Given the description of an element on the screen output the (x, y) to click on. 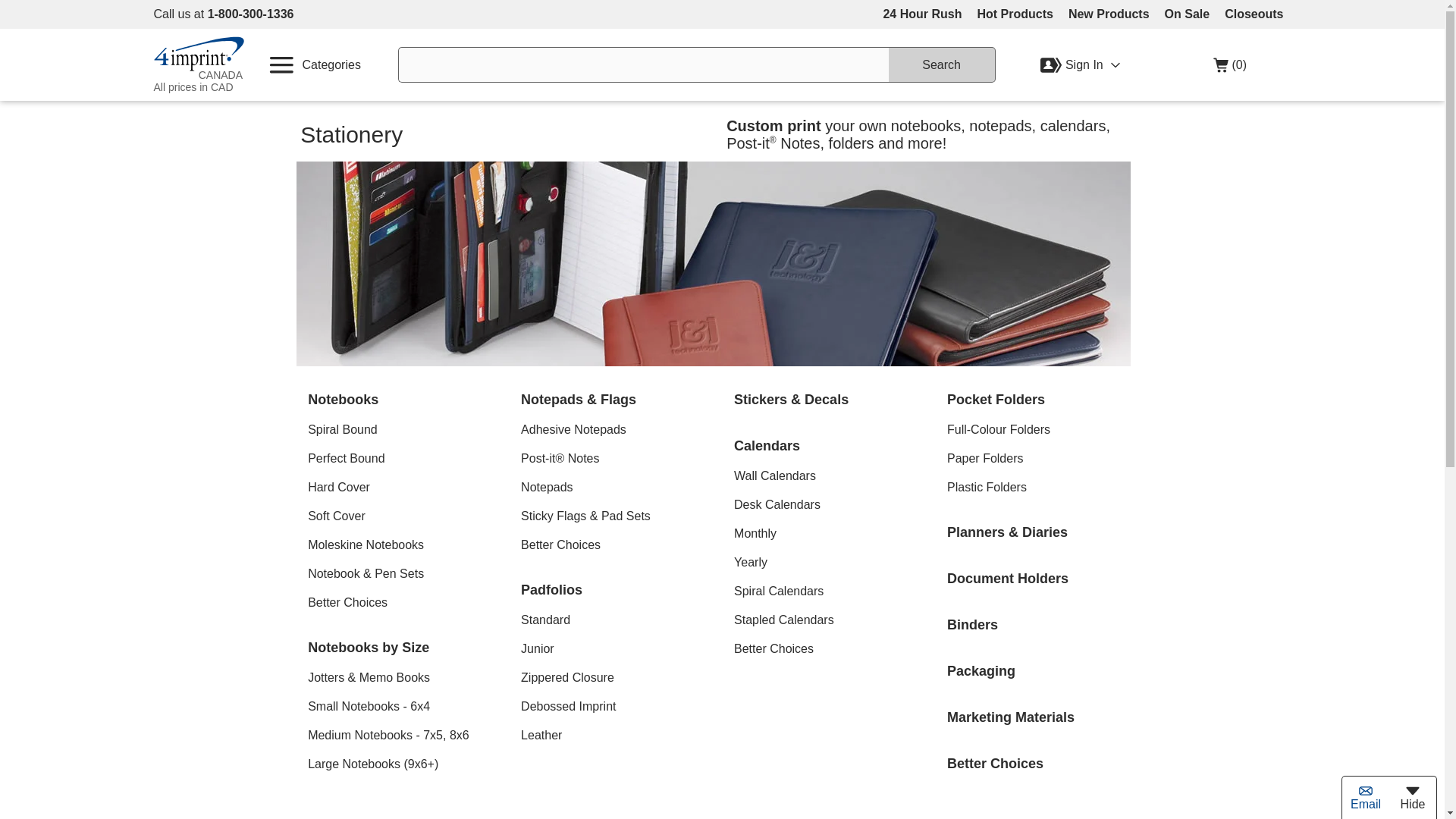
Hot Products (1014, 13)
Categories (402, 487)
Search (310, 64)
New Products (941, 64)
CANADA (402, 602)
Notebooks (1109, 13)
24 Hour Rush (402, 458)
Notebooks by Size (402, 544)
